Given the description of an element on the screen output the (x, y) to click on. 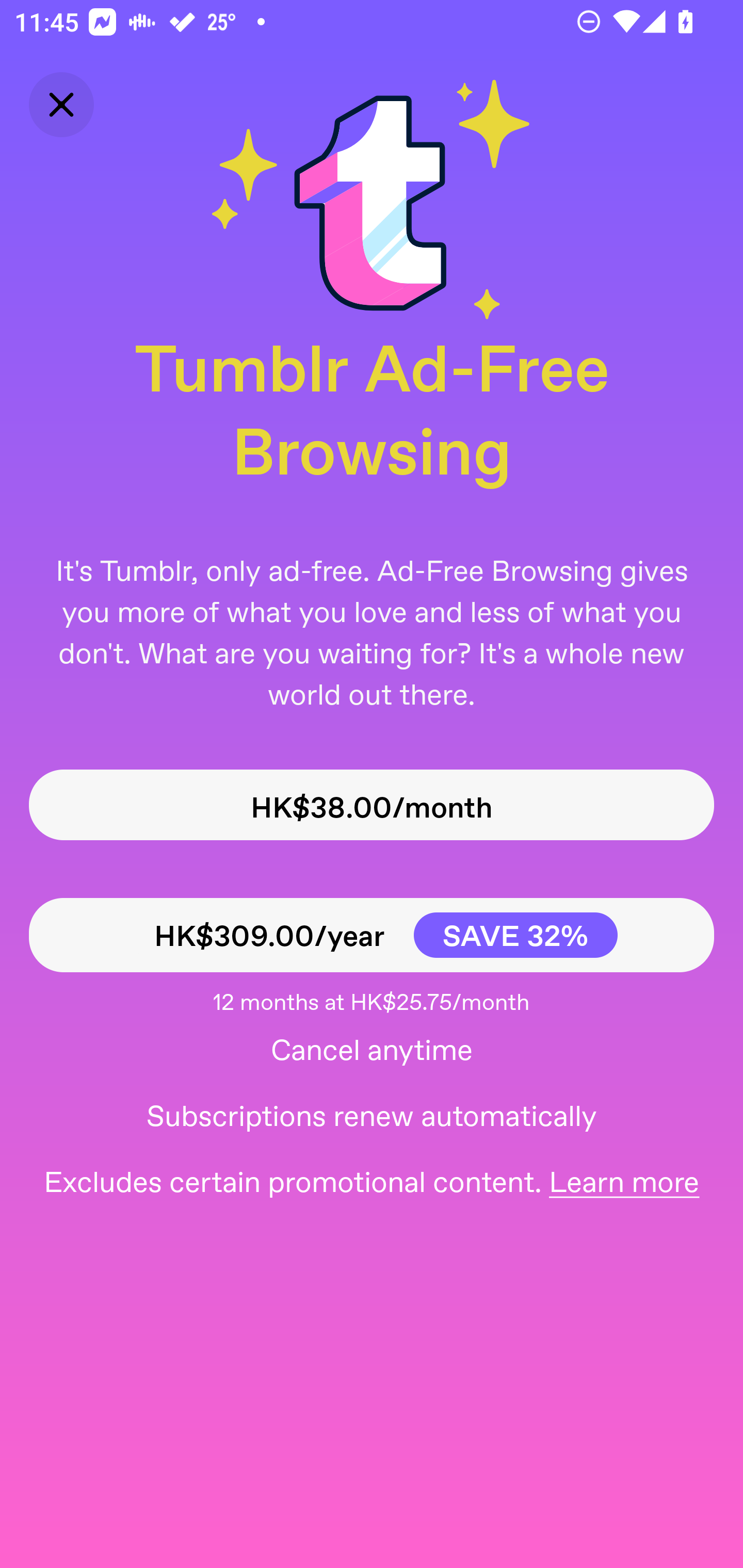
HK$38.00/month (371, 804)
HK$309.00/year SAVE 32% (371, 935)
Excludes certain promotional content. Learn more (371, 1180)
